Given the description of an element on the screen output the (x, y) to click on. 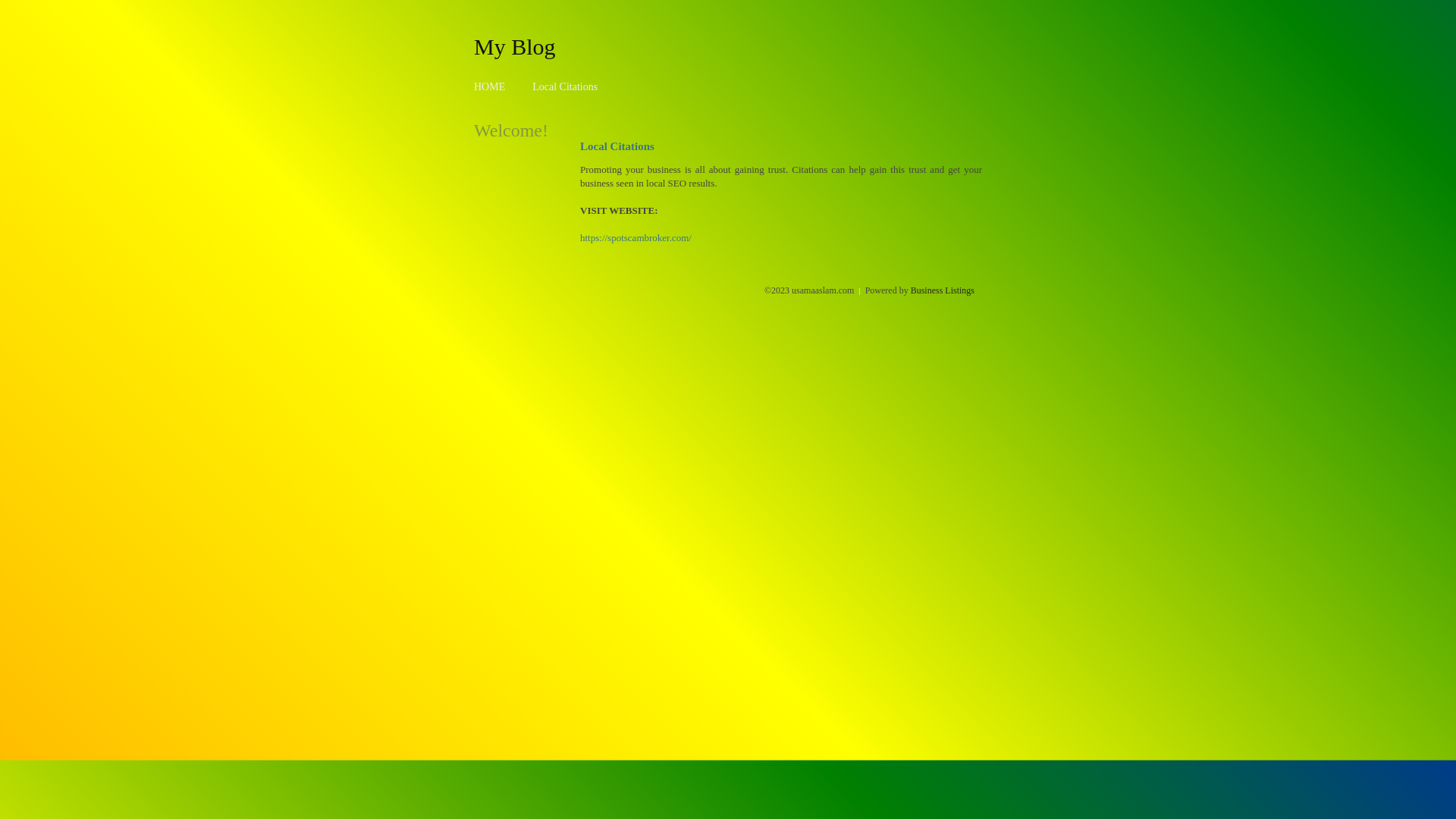
Local Citations Element type: text (564, 86)
My Blog Element type: text (514, 46)
HOME Element type: text (489, 86)
https://spotscambroker.com/ Element type: text (635, 237)
Business Listings Element type: text (942, 290)
